Given the description of an element on the screen output the (x, y) to click on. 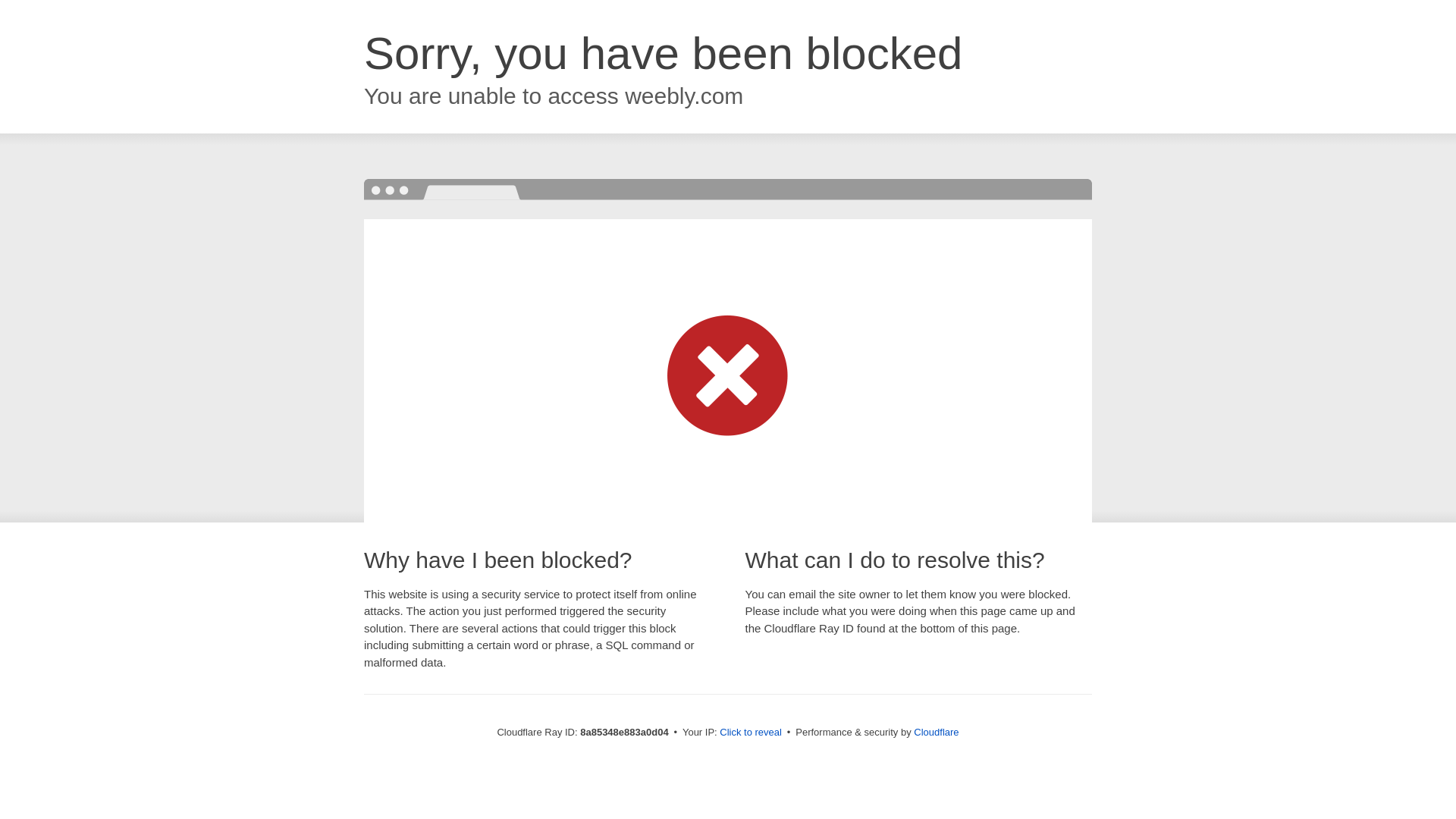
Cloudflare (936, 731)
Click to reveal (750, 732)
